Given the description of an element on the screen output the (x, y) to click on. 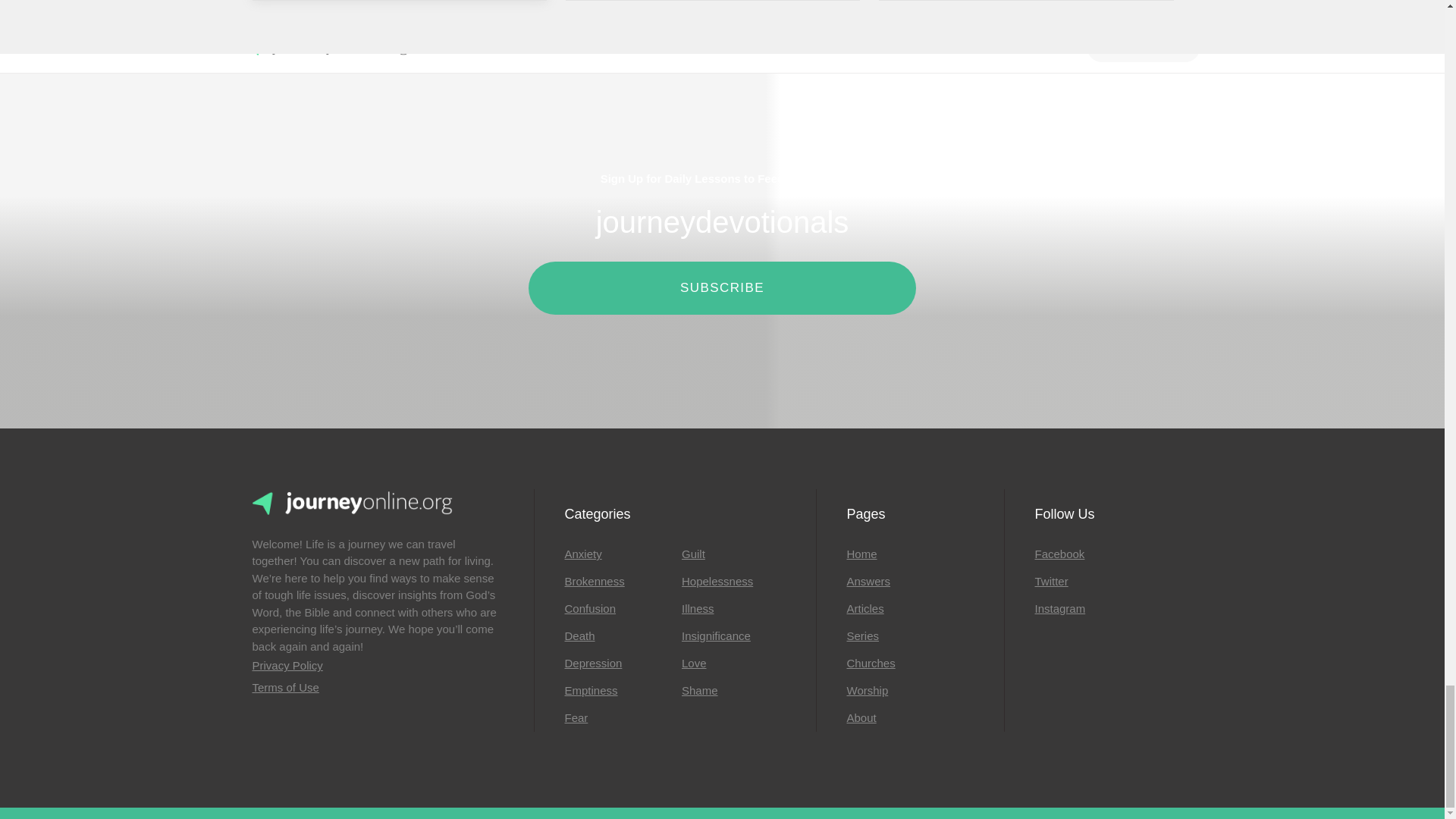
Terms of Use (376, 688)
SUBSCRIBE (722, 287)
Privacy Policy (376, 666)
